Given the description of an element on the screen output the (x, y) to click on. 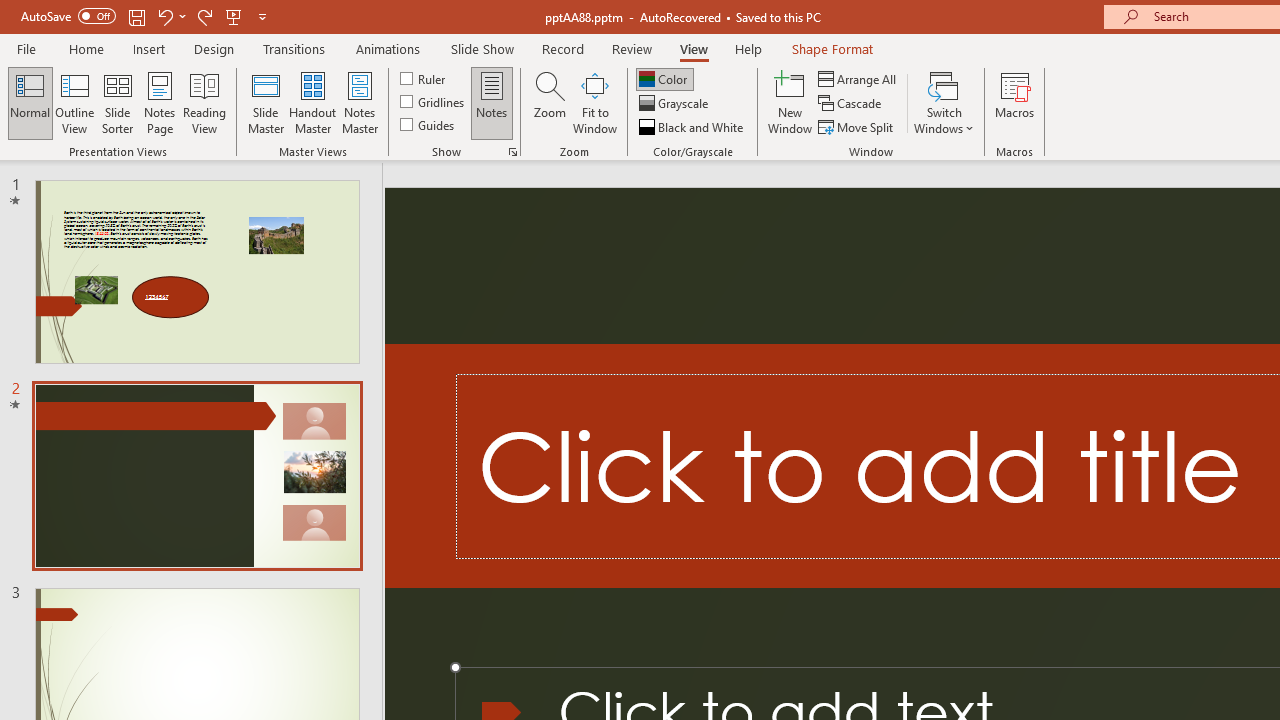
Zoom... (549, 102)
Switch Windows (943, 102)
Gridlines (433, 101)
Notes (492, 102)
New Window (790, 102)
Outline View (74, 102)
Black and White (693, 126)
Grayscale (675, 103)
